Given the description of an element on the screen output the (x, y) to click on. 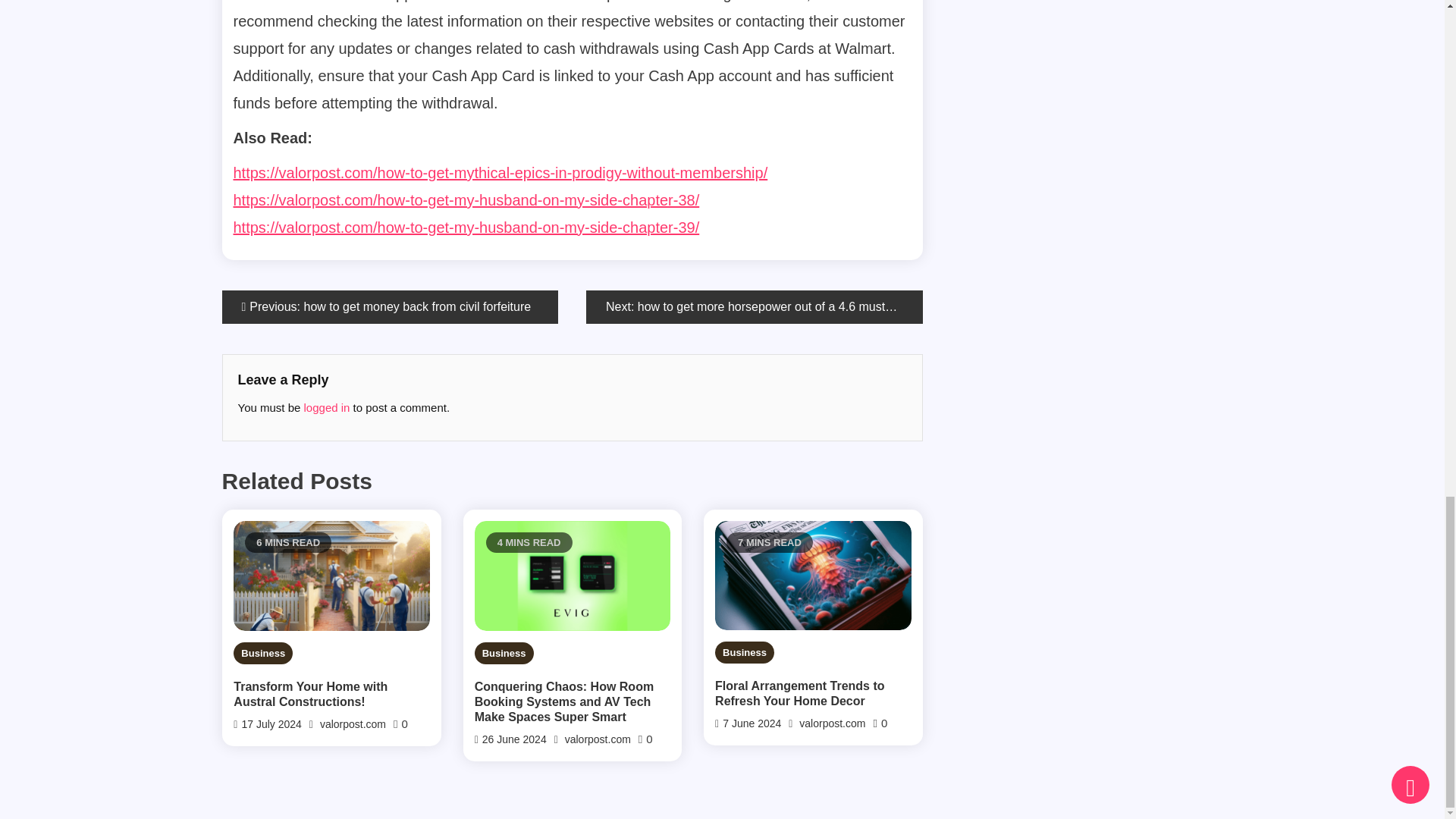
valorpost.com (597, 739)
Floral Arrangement Trends to Refresh Your Home Decor (812, 693)
Previous: how to get money back from civil forfeiture (389, 306)
Business (744, 652)
valorpost.com (352, 724)
logged in (327, 407)
Transform Your Home with Austral Constructions! (330, 694)
Next: how to get more horsepower out of a 4.6 mustang (754, 306)
Business (504, 653)
Business (262, 653)
26 June 2024 (514, 739)
17 July 2024 (271, 724)
